Given the description of an element on the screen output the (x, y) to click on. 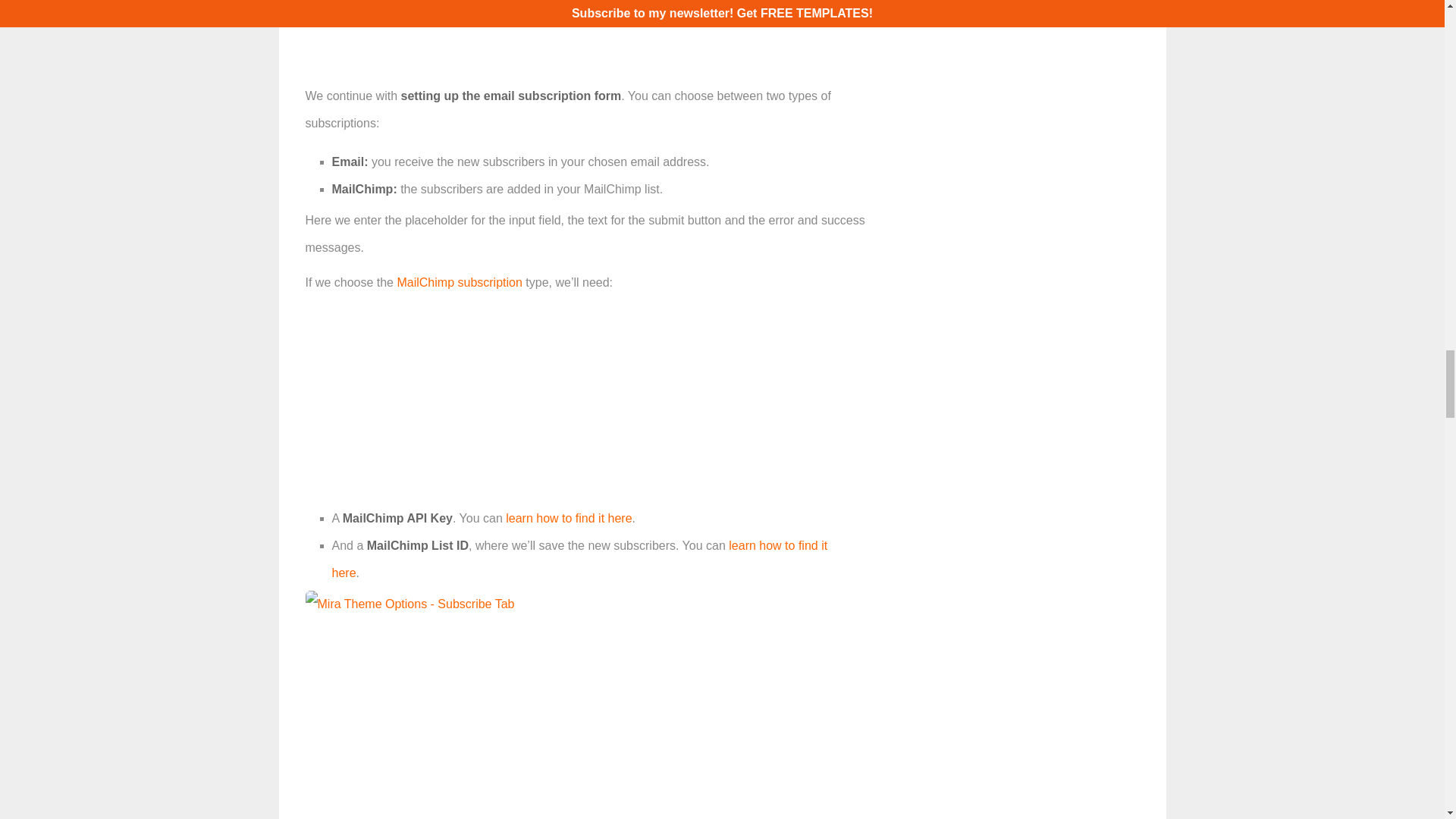
learn how to find it here (579, 558)
learn how to find it here (568, 517)
MailChimp subscription (458, 282)
Mira Theme Options - Subscribe Tab (408, 604)
